Given the description of an element on the screen output the (x, y) to click on. 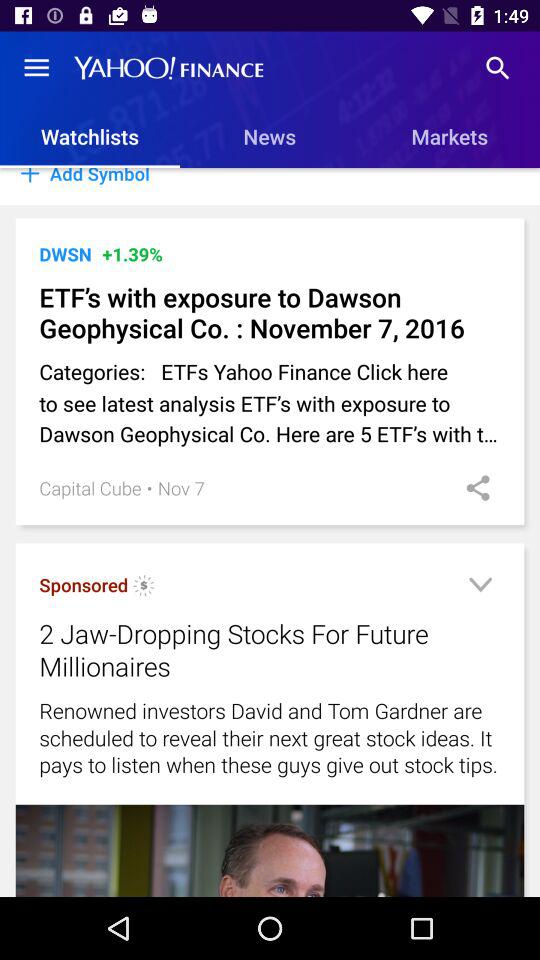
press dwsn (65, 253)
